Given the description of an element on the screen output the (x, y) to click on. 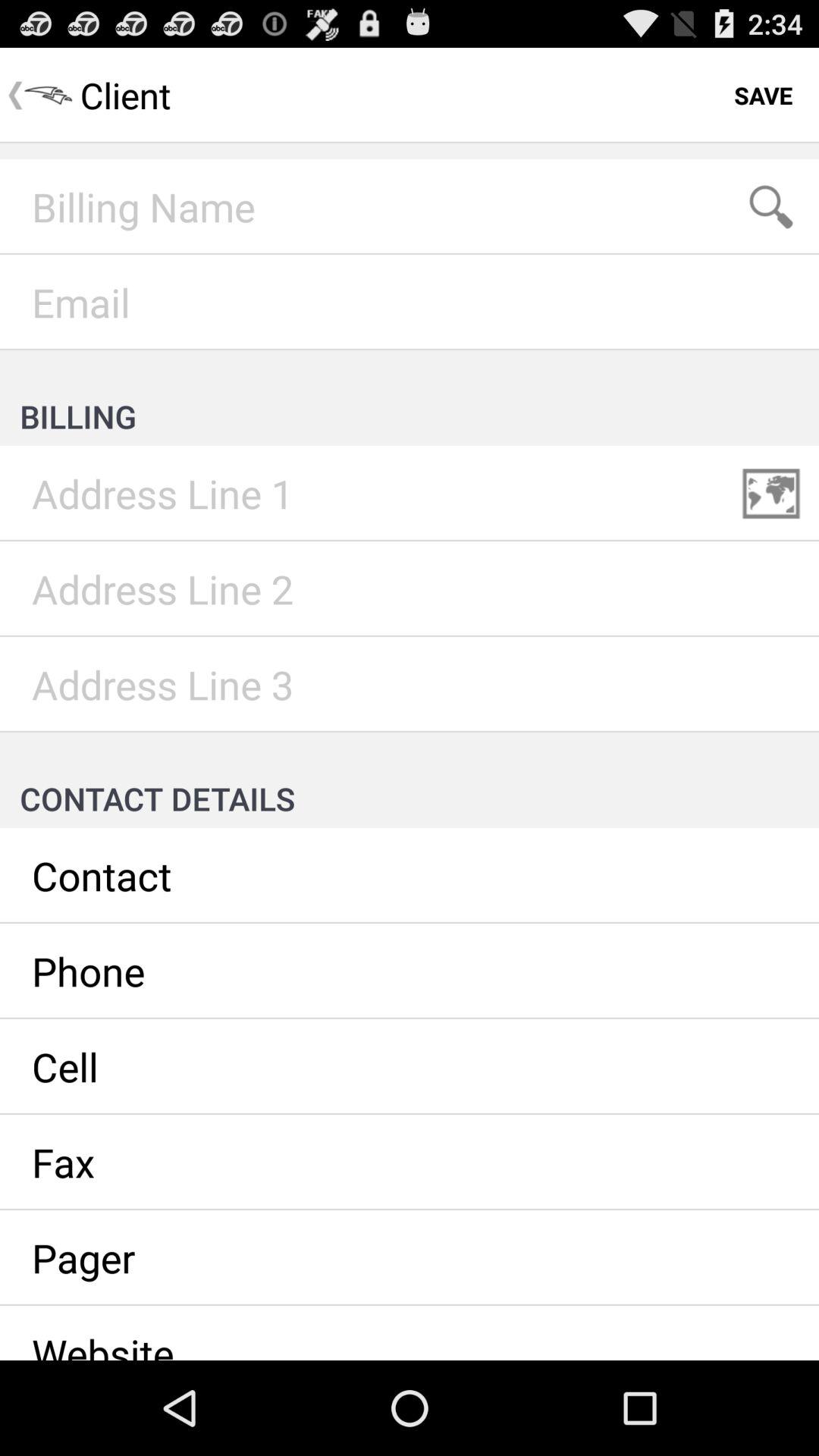
phone details (409, 971)
